Given the description of an element on the screen output the (x, y) to click on. 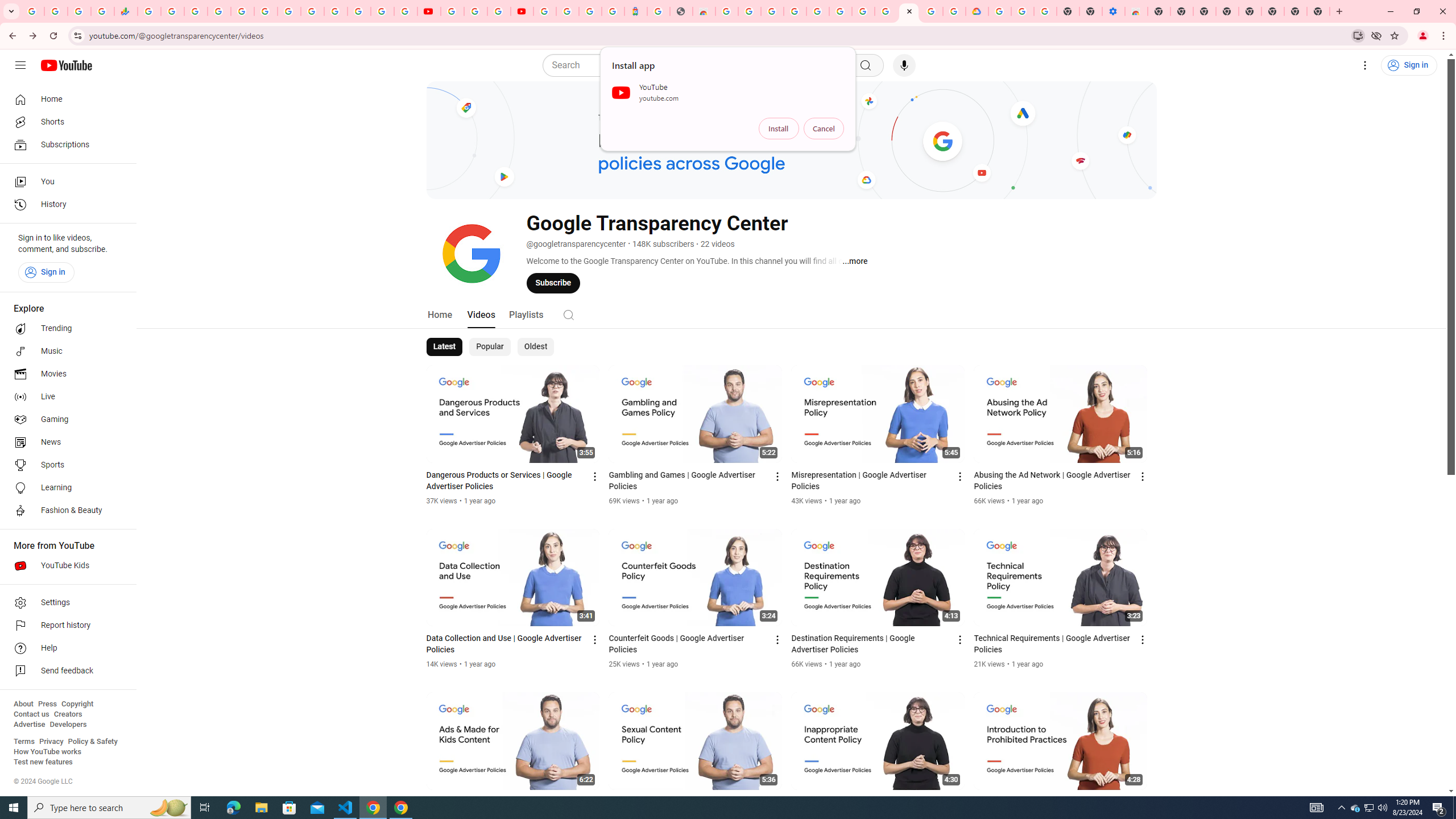
Settings - Accessibility (1113, 11)
YouTube Kids (64, 565)
Google Account Help (863, 11)
Sign in - Google Accounts (335, 11)
Sign in - Google Accounts (567, 11)
Turn cookies on or off - Computer - Google Account Help (1045, 11)
Google Workspace Admin Community (32, 11)
YouTube (312, 11)
